Given the description of an element on the screen output the (x, y) to click on. 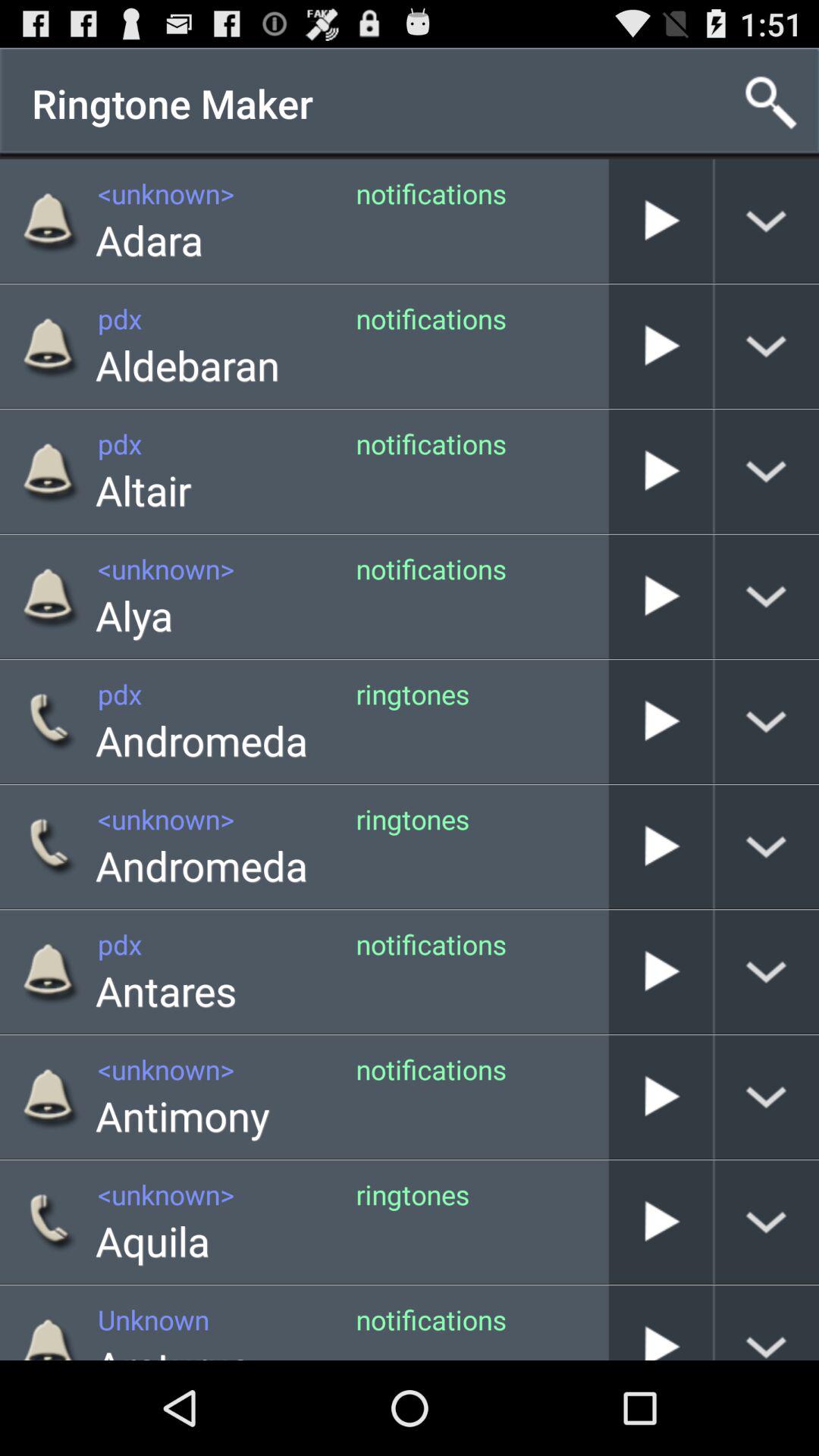
click to play (660, 1097)
